Given the description of an element on the screen output the (x, y) to click on. 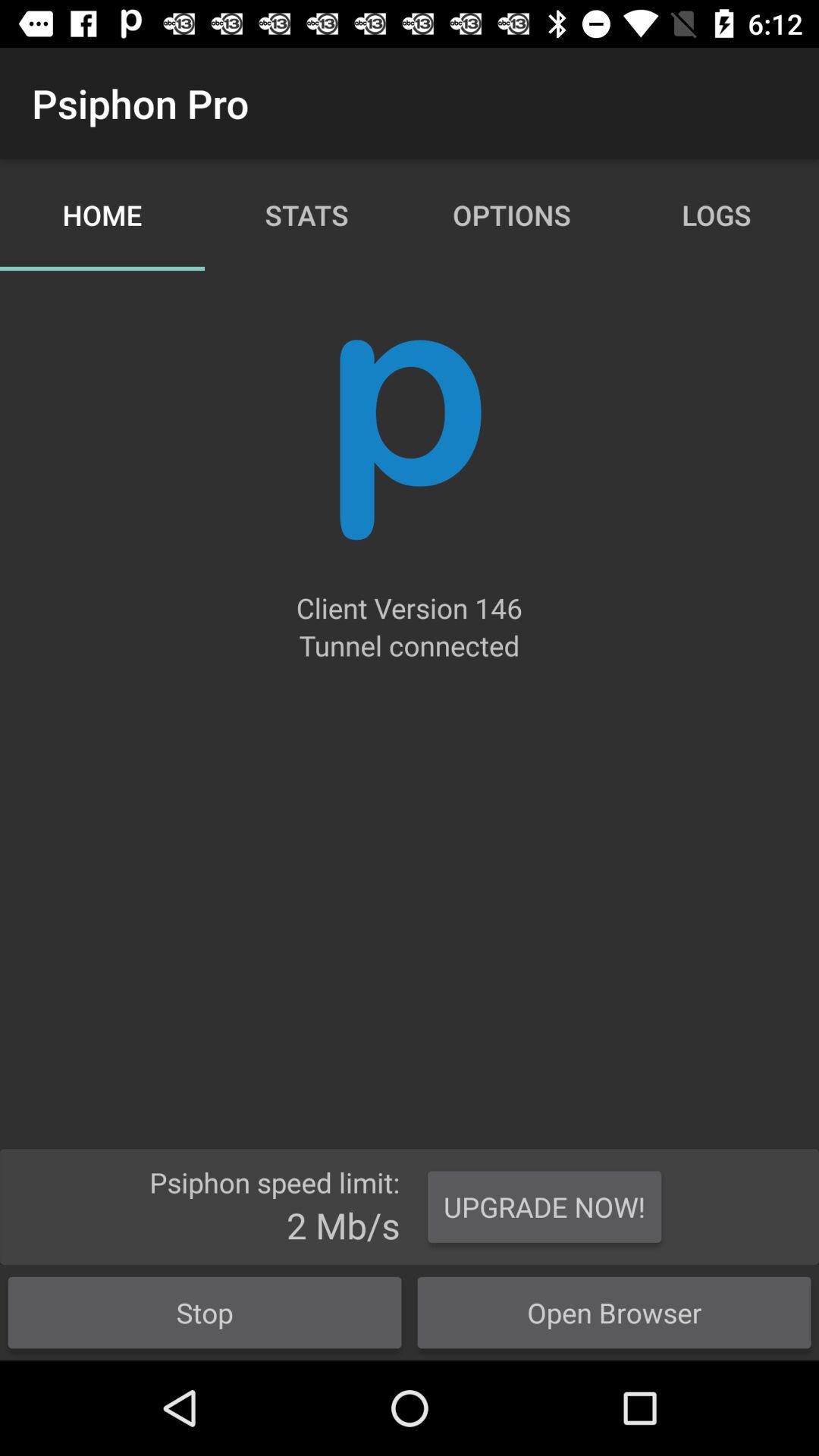
turn on the button at the bottom left corner (204, 1312)
